Given the description of an element on the screen output the (x, y) to click on. 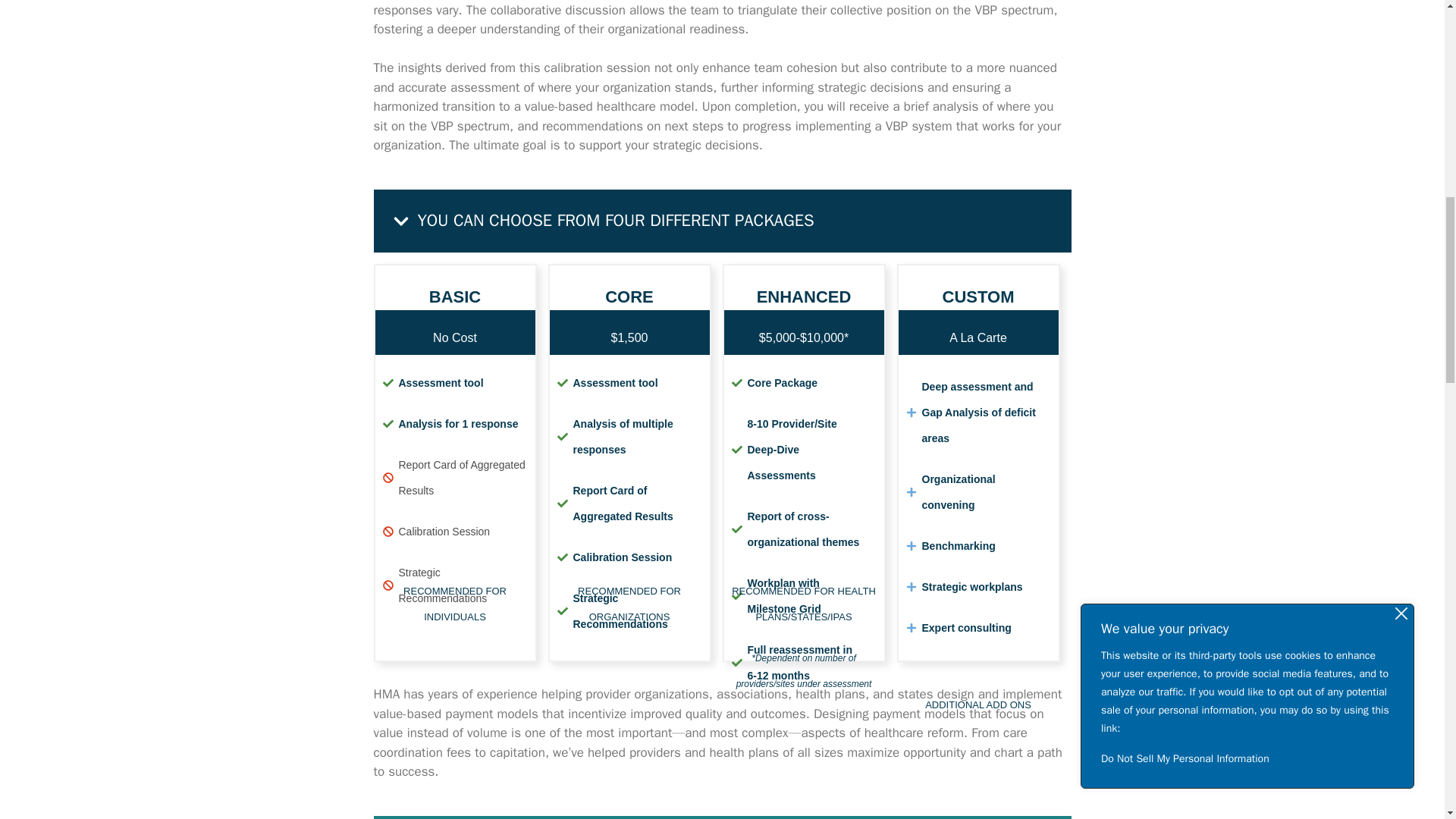
Scroll back to top (1406, 705)
